Given the description of an element on the screen output the (x, y) to click on. 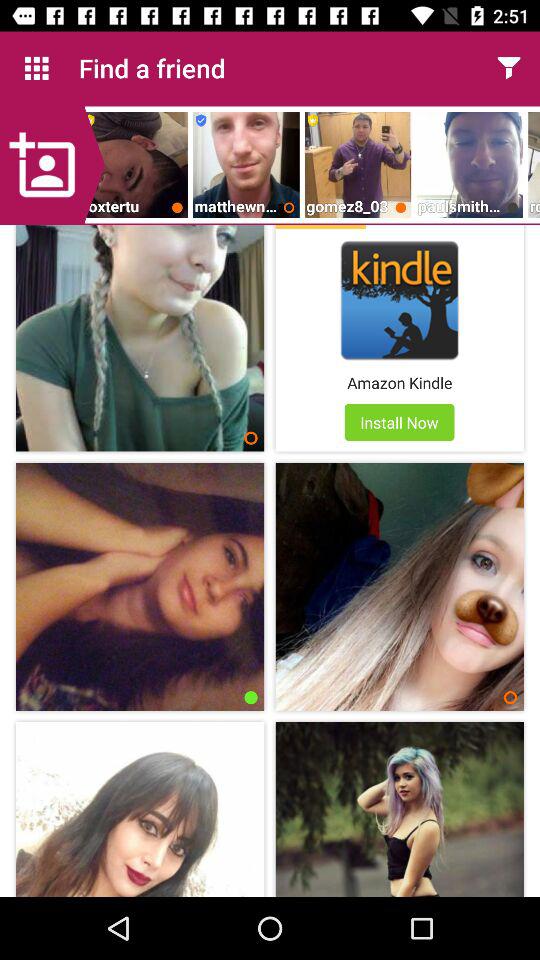
jump to the amazon kindle item (399, 382)
